Given the description of an element on the screen output the (x, y) to click on. 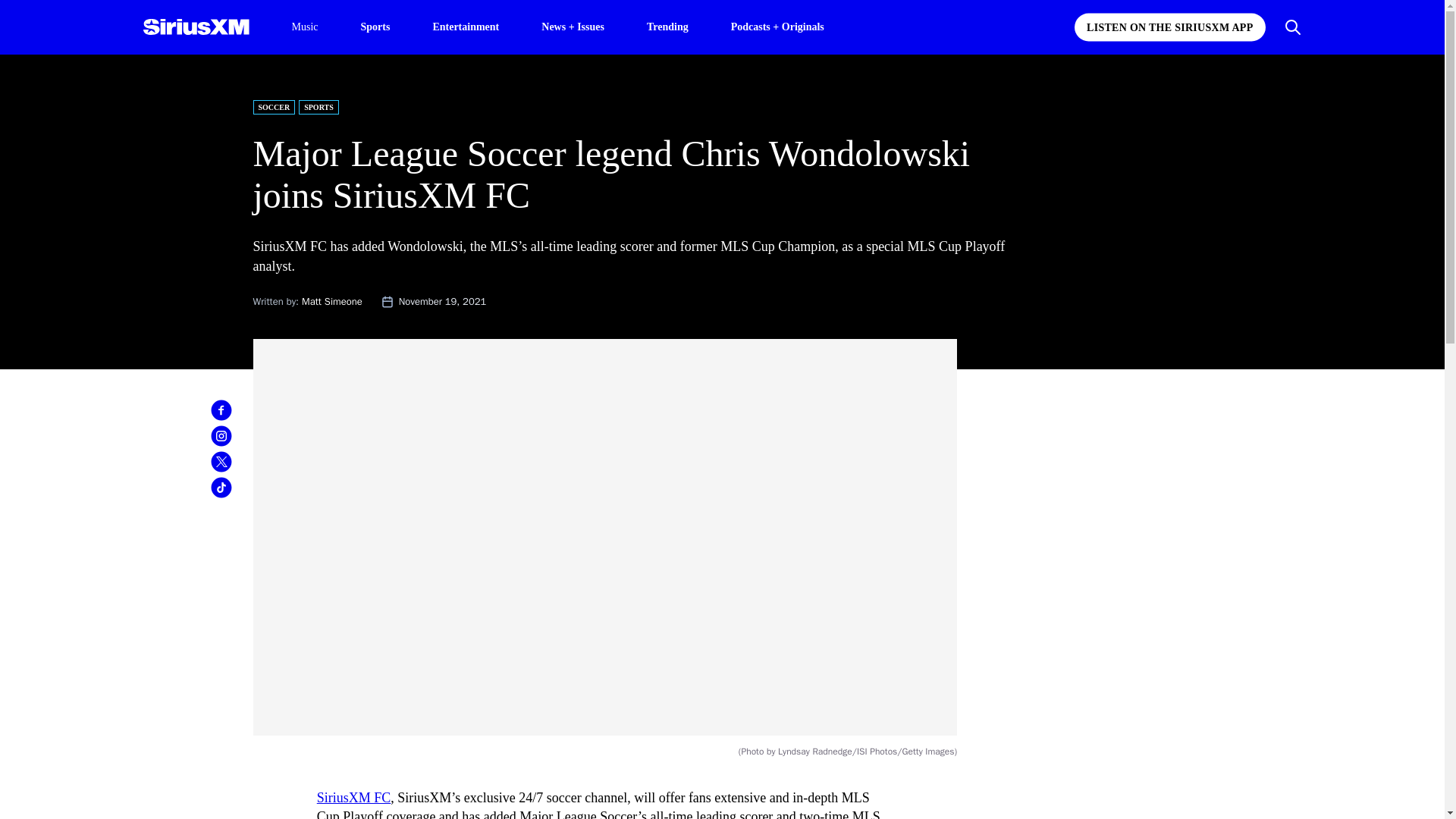
Matt Simeone (331, 300)
SPORTS (318, 106)
Music (304, 26)
Entertainment (465, 26)
LISTEN ON THE SIRIUSXM APP (1169, 27)
Sports (375, 26)
Trending (667, 26)
SiriusXM FC (354, 797)
SOCCER (274, 106)
